Given the description of an element on the screen output the (x, y) to click on. 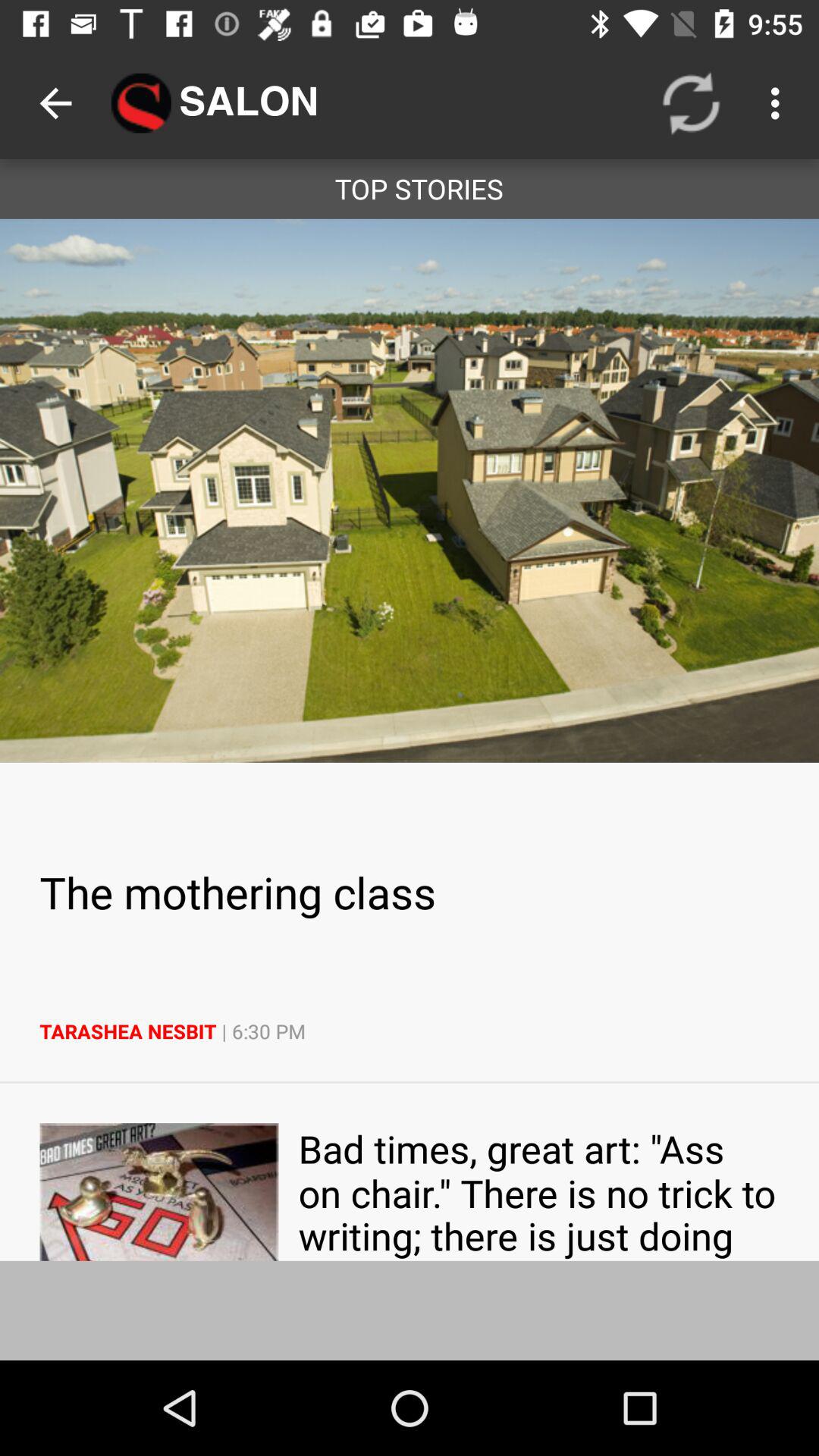
turn off the icon above top stories item (691, 103)
